Given the description of an element on the screen output the (x, y) to click on. 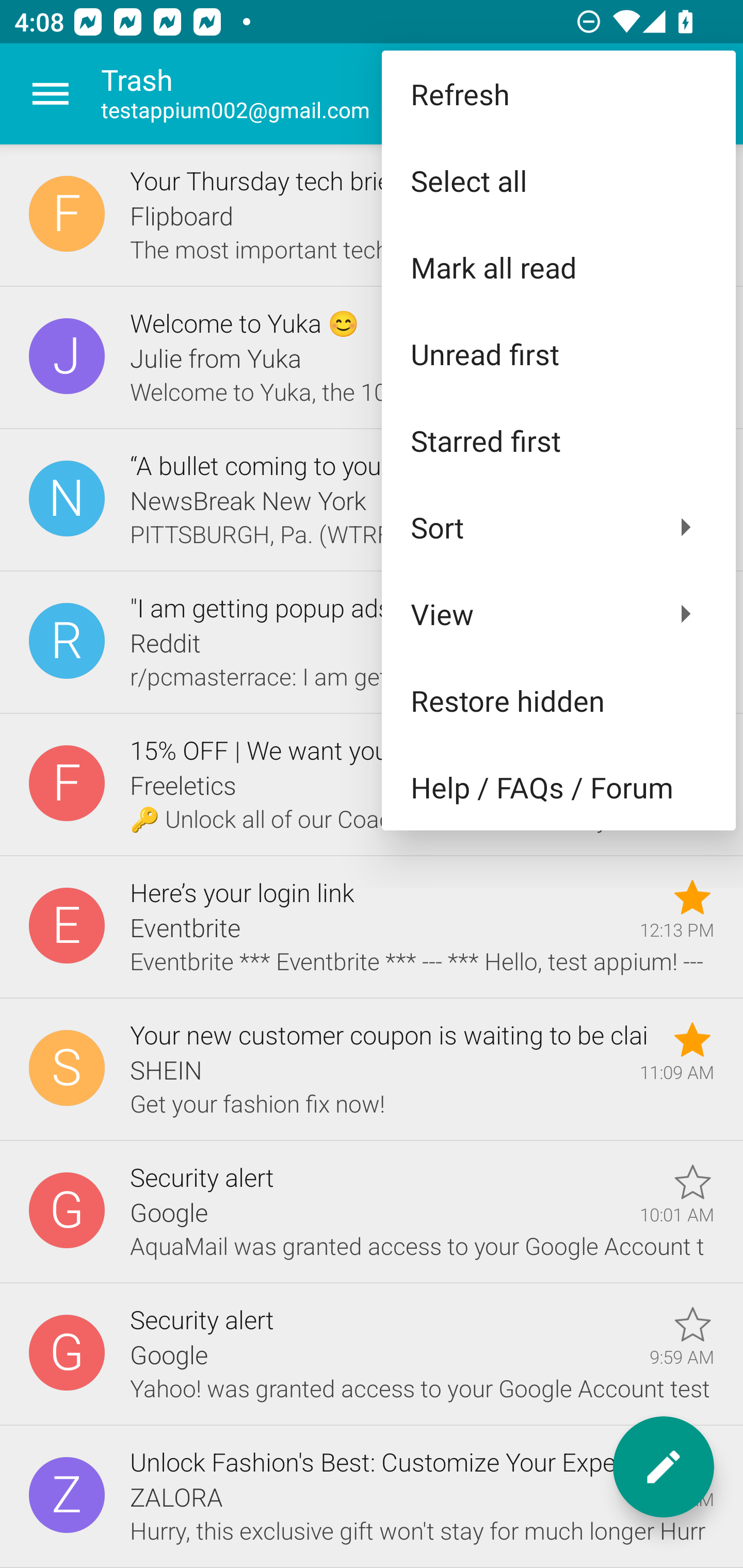
Refresh (558, 93)
Select all (558, 180)
Mark all read (558, 267)
Unread first (558, 353)
Starred first (558, 440)
Sort (558, 527)
View (558, 613)
Restore hidden (558, 699)
Help / FAQs / Forum (558, 787)
